Given the description of an element on the screen output the (x, y) to click on. 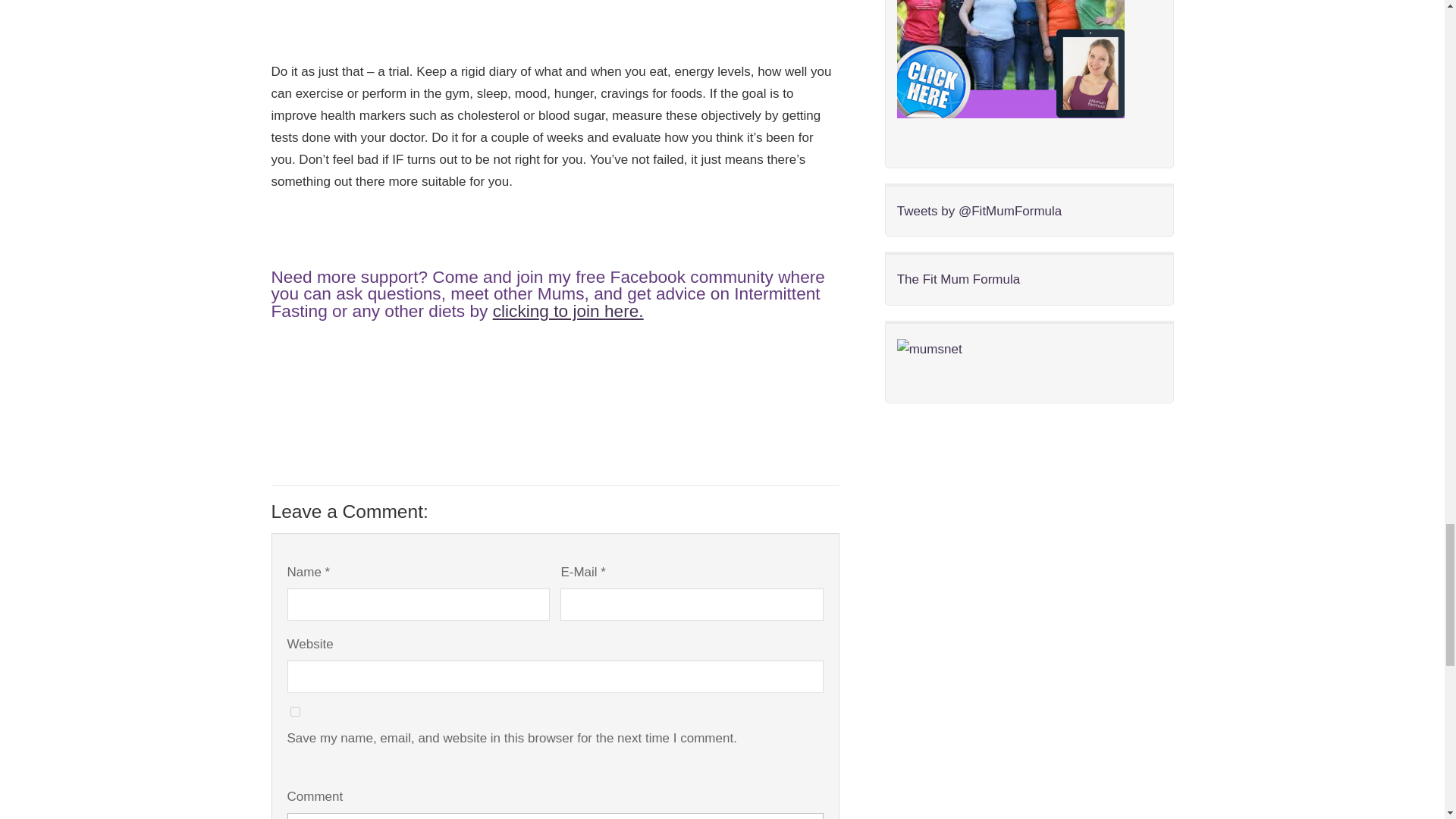
yes (294, 711)
